Given the description of an element on the screen output the (x, y) to click on. 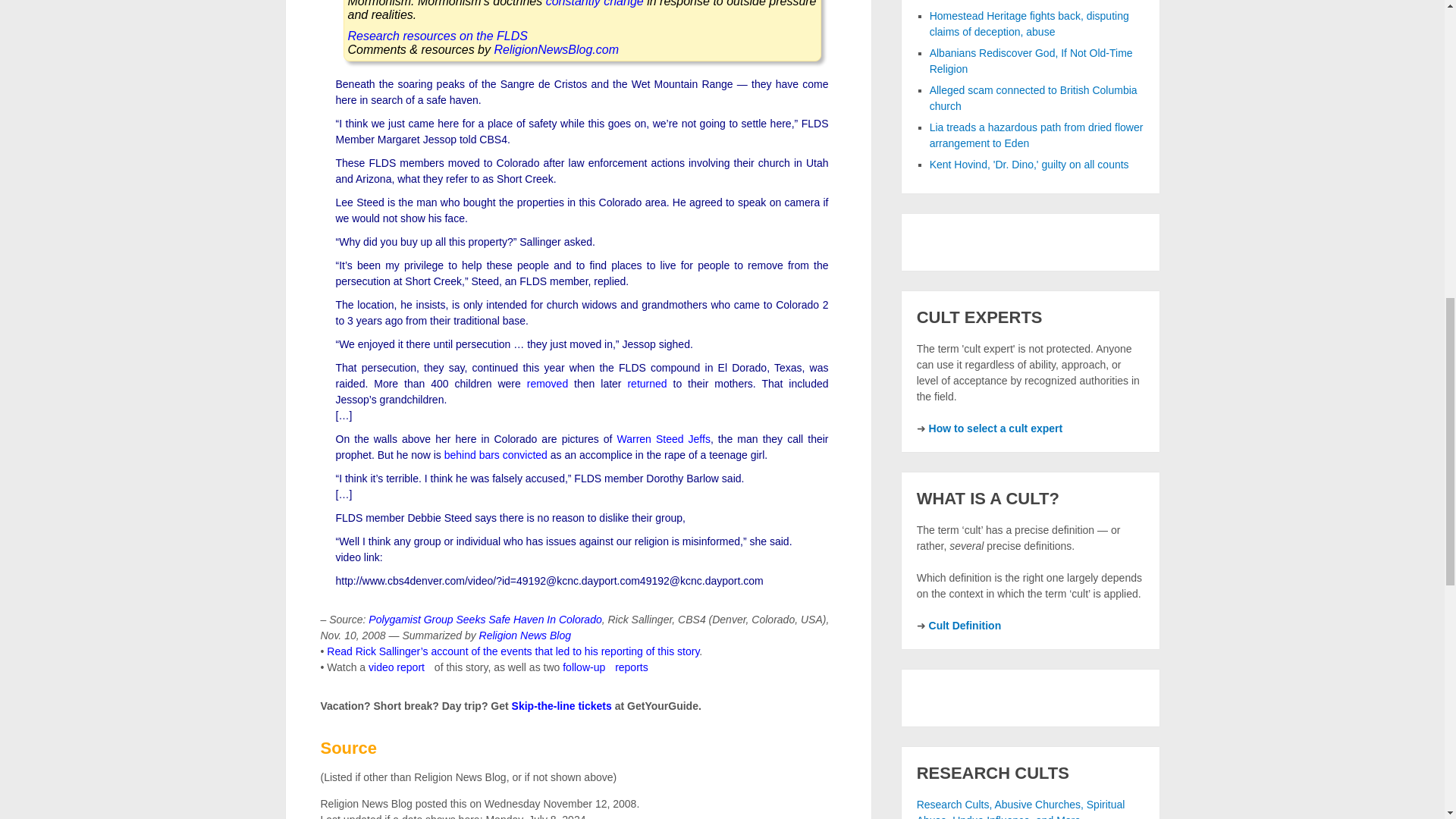
reports (630, 666)
Warren Steed Jeffs (662, 439)
convicted (524, 454)
constantly change (594, 3)
Research resources on the FLDS (437, 35)
Religion News Blog (524, 635)
Skip-the-line tickets (561, 705)
removed (547, 383)
ReligionNewsBlog.com (555, 49)
follow-up (583, 666)
